Given the description of an element on the screen output the (x, y) to click on. 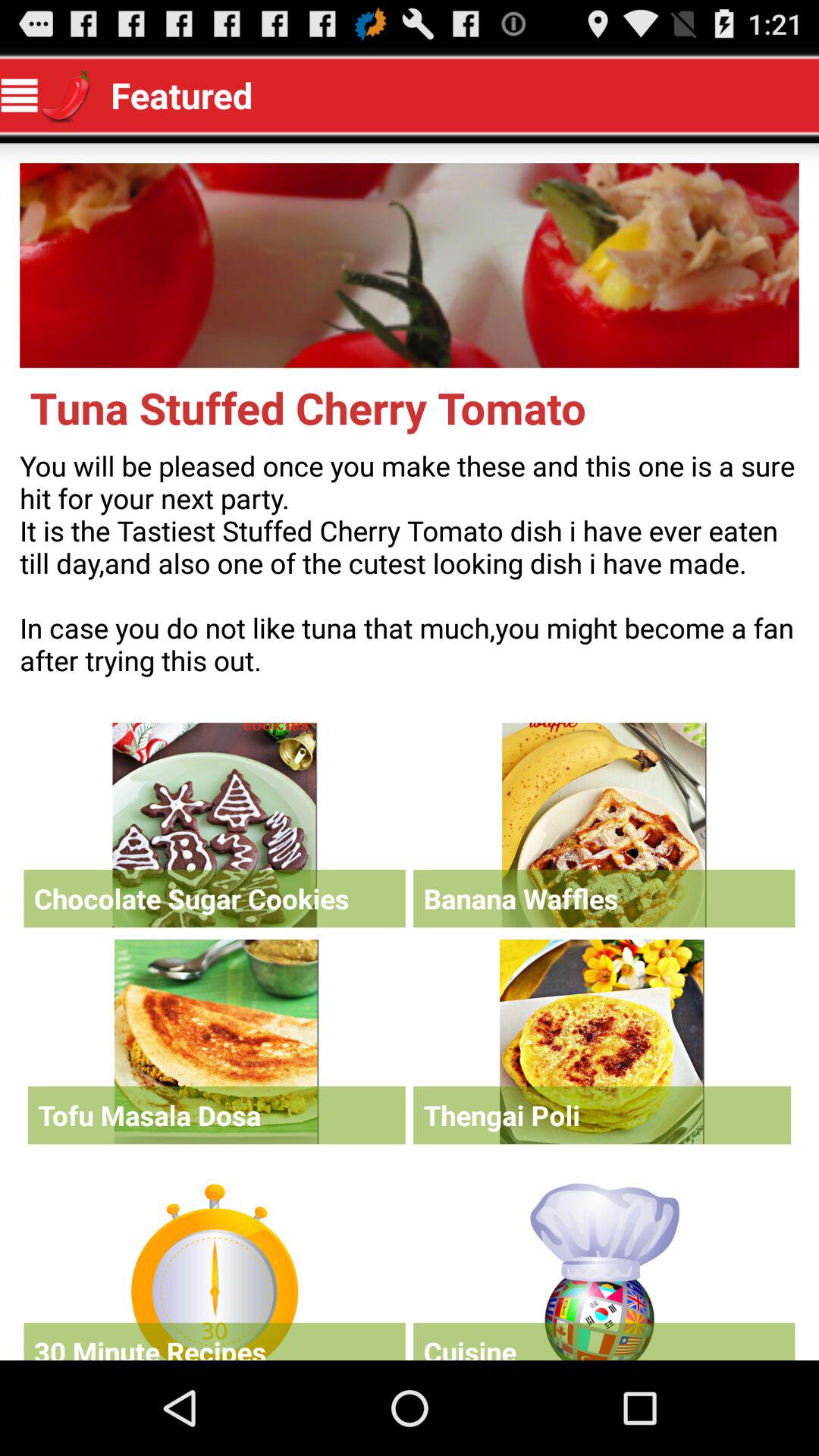
view 30 minute recipes (214, 1268)
